Given the description of an element on the screen output the (x, y) to click on. 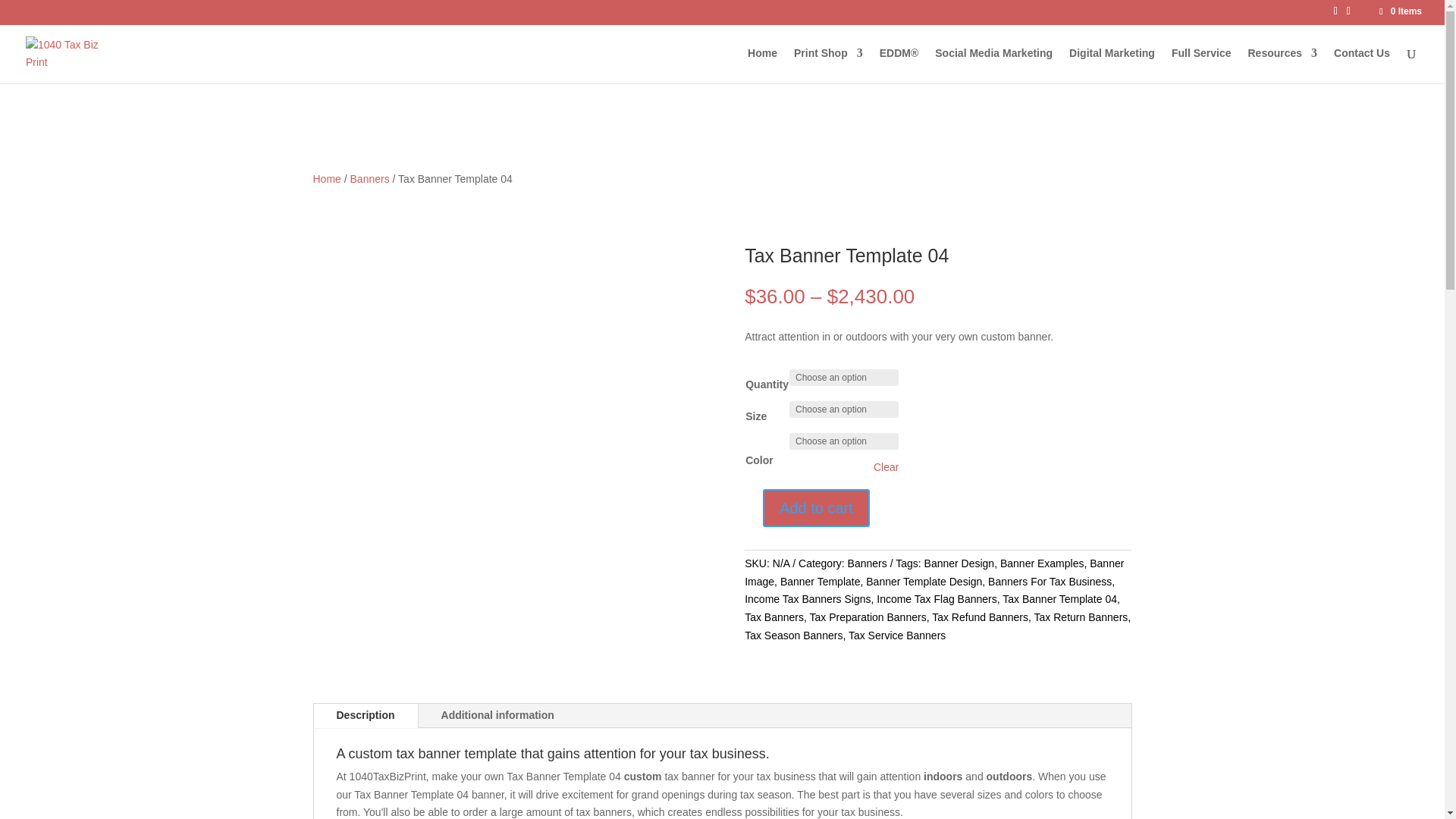
Banner Template Design Element type: text (924, 581)
Full Service Element type: text (1201, 65)
Tax Service Banners Element type: text (896, 635)
Tax Return Banners Element type: text (1081, 617)
Contact Us Element type: text (1361, 65)
Print Shop Element type: text (827, 65)
Banner Examples Element type: text (1042, 563)
Banners Element type: text (867, 563)
Social Media Marketing Element type: text (993, 65)
Digital Marketing Element type: text (1111, 65)
Add to cart Element type: text (815, 508)
Home Element type: text (326, 178)
Tax Banners Element type: text (773, 617)
Tax Preparation Banners Element type: text (867, 617)
Additional information Element type: text (497, 715)
Income Tax Banners Signs Element type: text (807, 599)
Tax Refund Banners Element type: text (979, 617)
Banner Design Element type: text (959, 563)
Home Element type: text (762, 65)
Banners Element type: text (369, 178)
Tax Season Banners Element type: text (793, 635)
Banner Template Element type: text (820, 581)
Banners For Tax Business Element type: text (1049, 581)
Income Tax Flag Banners Element type: text (936, 599)
Resources Element type: text (1282, 65)
Description Element type: text (365, 715)
Clear Element type: text (885, 466)
0 Items Element type: text (1399, 11)
Tax Banner Template 04 Element type: text (1059, 599)
Banner Image Element type: text (933, 572)
